Given the description of an element on the screen output the (x, y) to click on. 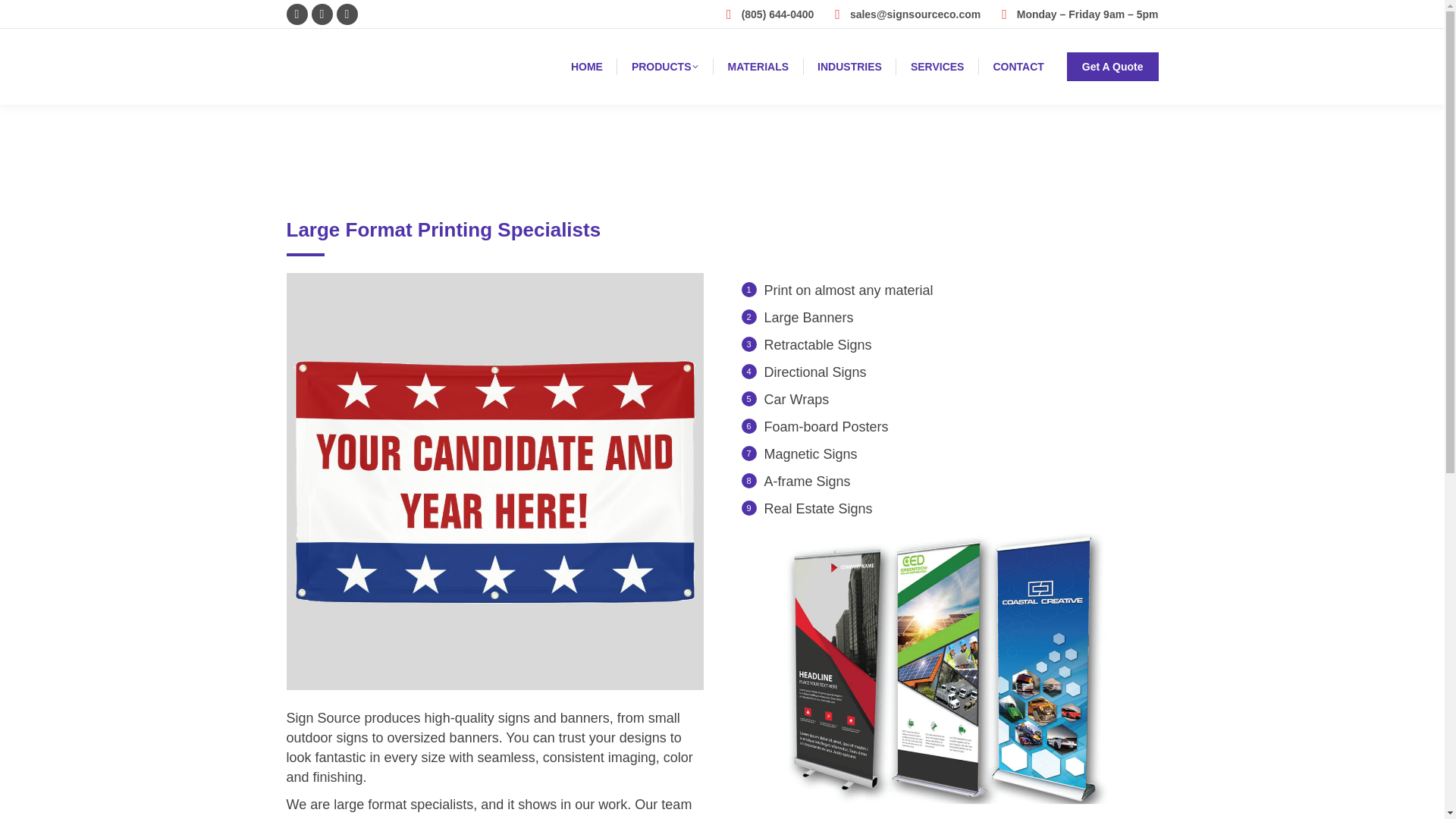
Get A Quote (1112, 66)
Yelp page opens in new window (321, 14)
PRODUCTS (664, 66)
MATERIALS (757, 66)
Yelp page opens in new window (321, 14)
Facebook page opens in new window (296, 14)
INDUSTRIES (849, 66)
Mail page opens in new window (347, 14)
Mail page opens in new window (347, 14)
